Given the description of an element on the screen output the (x, y) to click on. 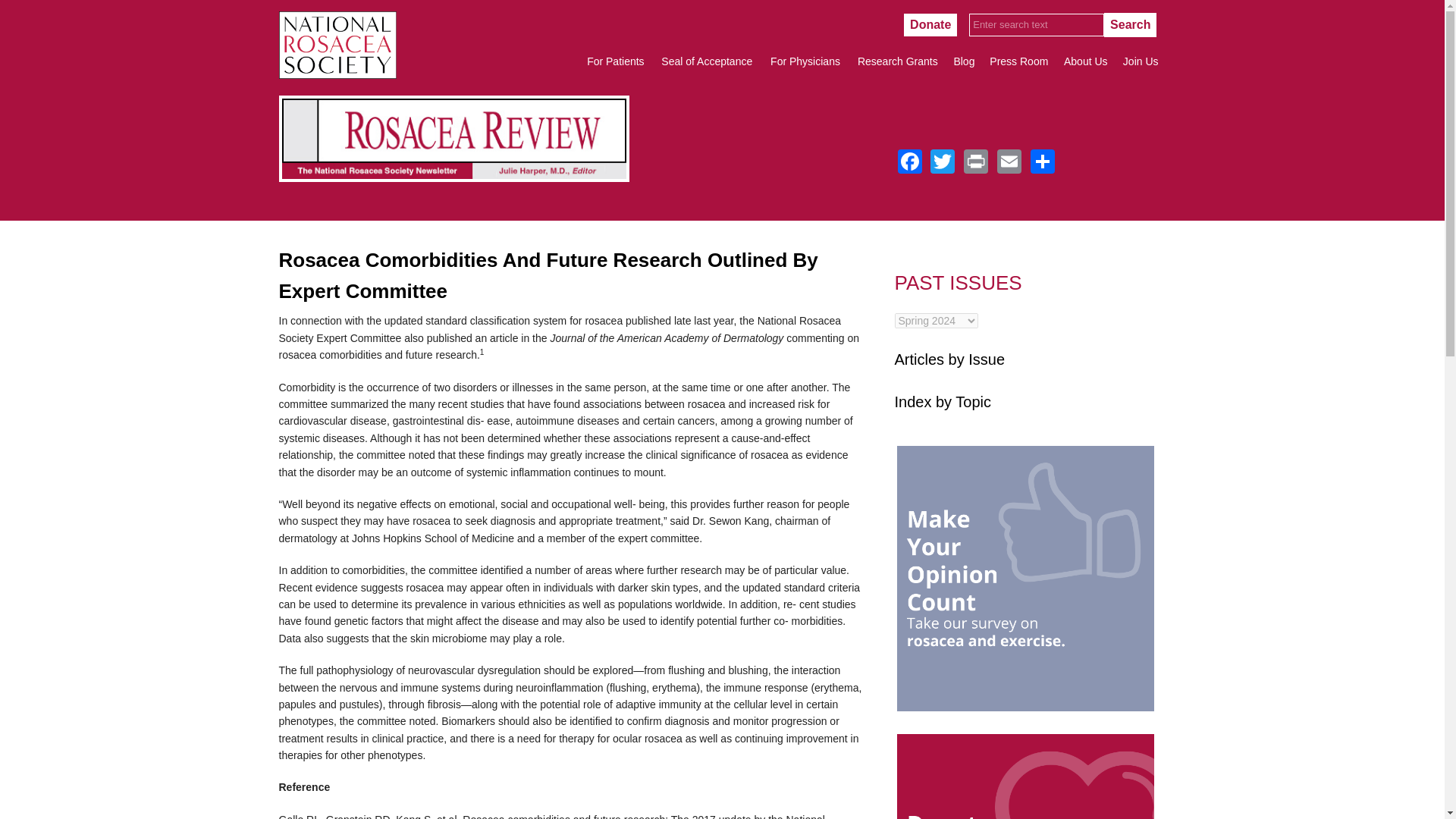
Search (1129, 24)
For Patients (615, 61)
Home (337, 74)
